Given the description of an element on the screen output the (x, y) to click on. 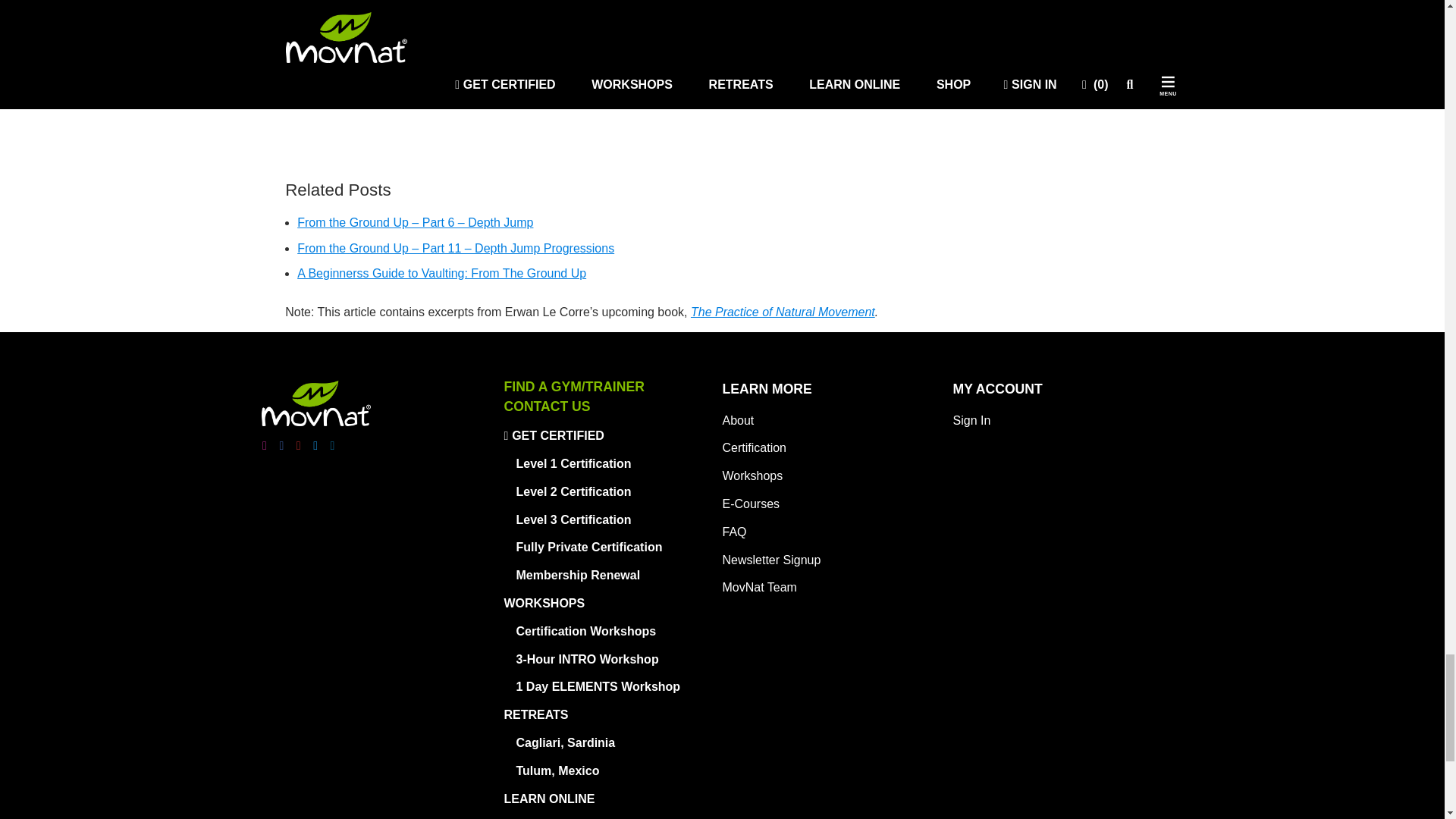
Connect with me on LinkedIn (331, 445)
Subscribe to me on YouTube (298, 445)
Follow me on Twitter (315, 445)
Follow me on Instagram (264, 445)
Like me on Facebook (281, 445)
